Given the description of an element on the screen output the (x, y) to click on. 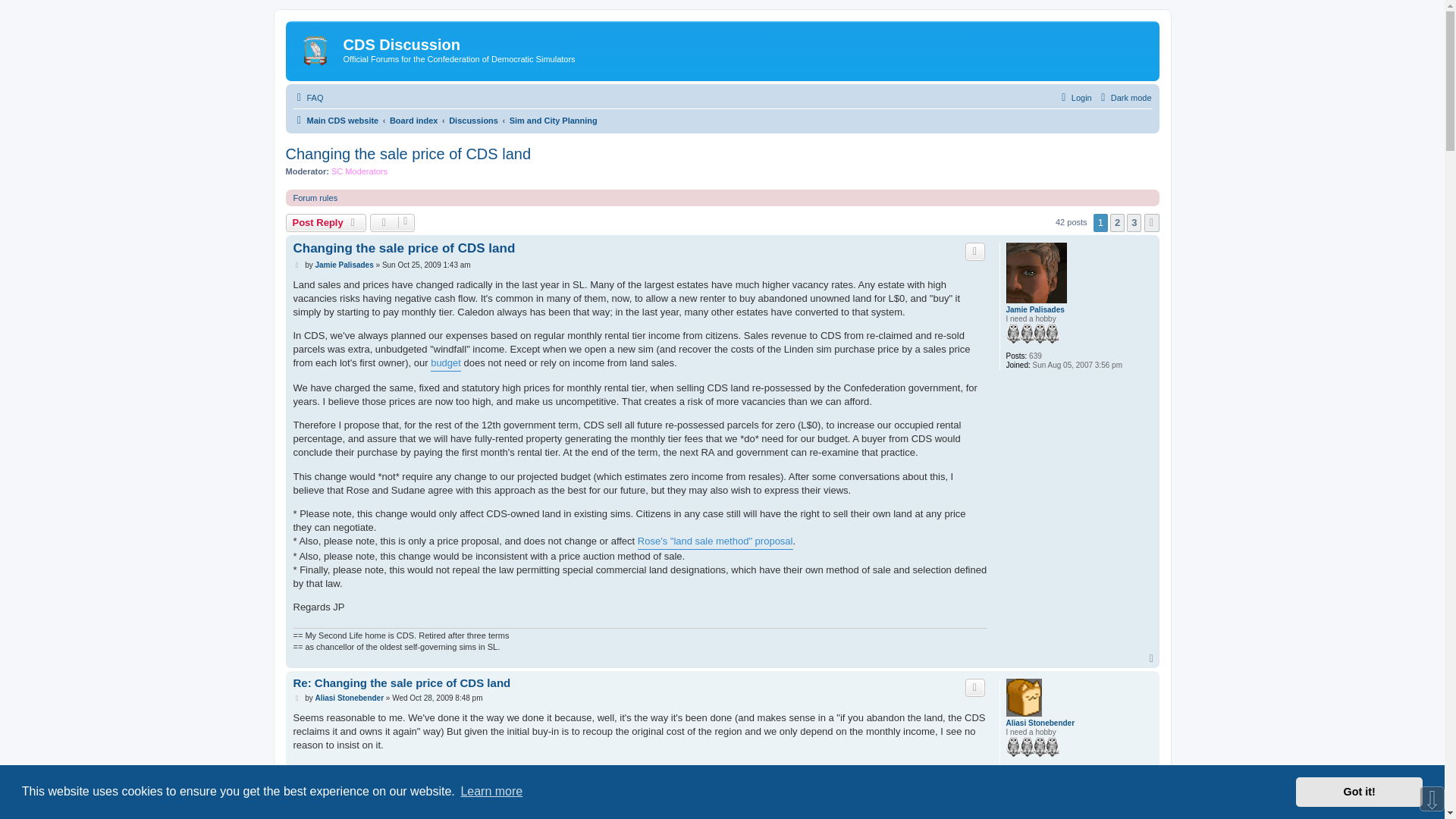
Top (1151, 658)
Discussions (472, 120)
Changing the sale price of CDS land (403, 248)
Post (297, 265)
Forum rules (314, 197)
Sim and City Planning (552, 120)
Learn more (491, 791)
Login (1075, 97)
Sim and City Planning (552, 120)
Login (1075, 97)
Post (297, 697)
Main CDS website (316, 47)
Frequently Asked Questions (307, 97)
Main CDS website (335, 120)
Post Reply (325, 222)
